Given the description of an element on the screen output the (x, y) to click on. 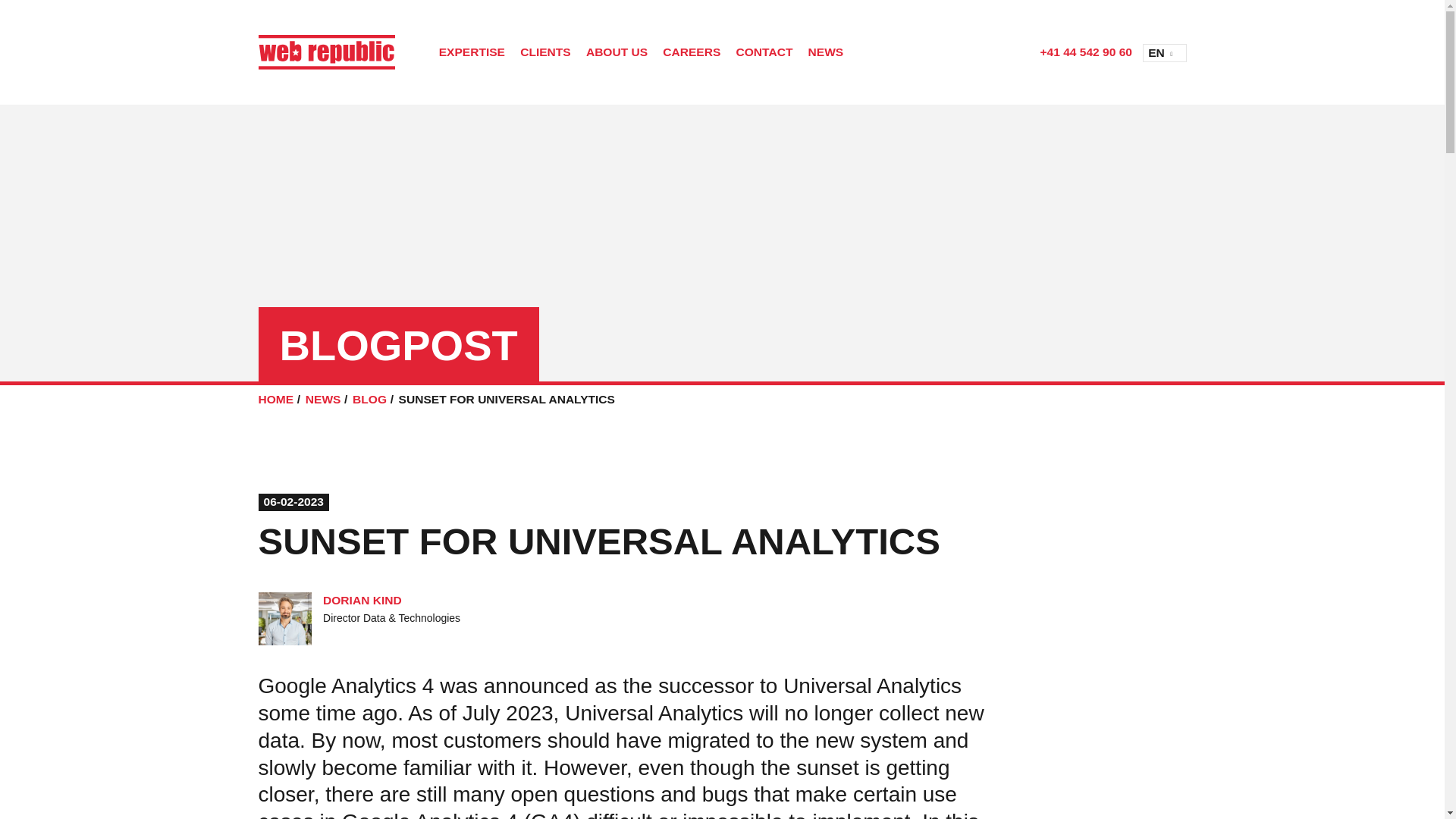
ABOUT US (616, 52)
NEWS (825, 52)
Blog (369, 399)
Home (275, 399)
News (322, 399)
CLIENTS (545, 52)
Logo Webrepublic (325, 52)
Logo Webrepublic (337, 52)
